Given the description of an element on the screen output the (x, y) to click on. 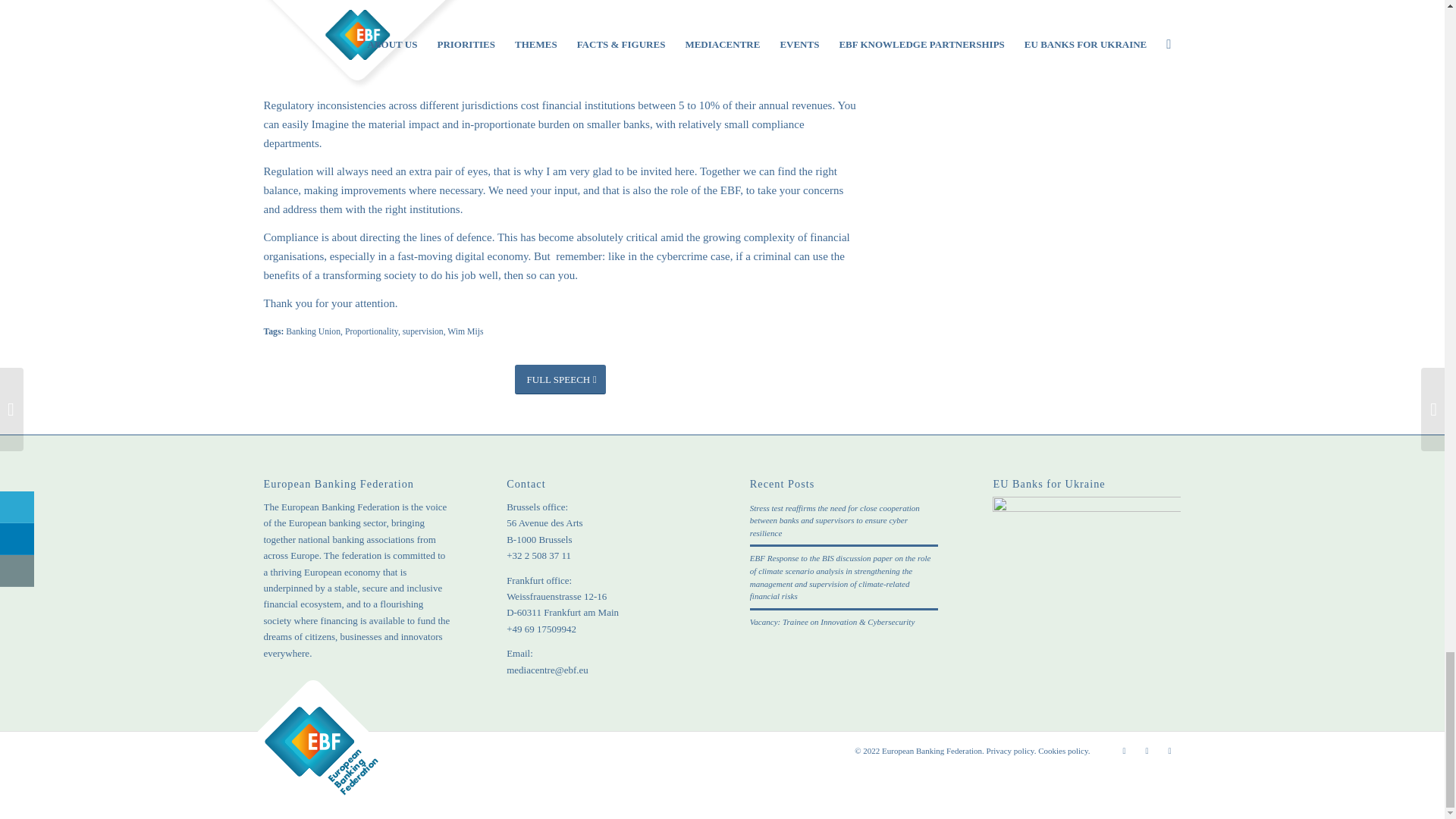
Twitter (1124, 750)
Vimeo (1169, 750)
Wim Mijs (464, 331)
Banking Union (312, 331)
supervision (423, 331)
LinkedIn (1146, 750)
FULL SPEECH (560, 378)
Proportionality (371, 331)
